Given the description of an element on the screen output the (x, y) to click on. 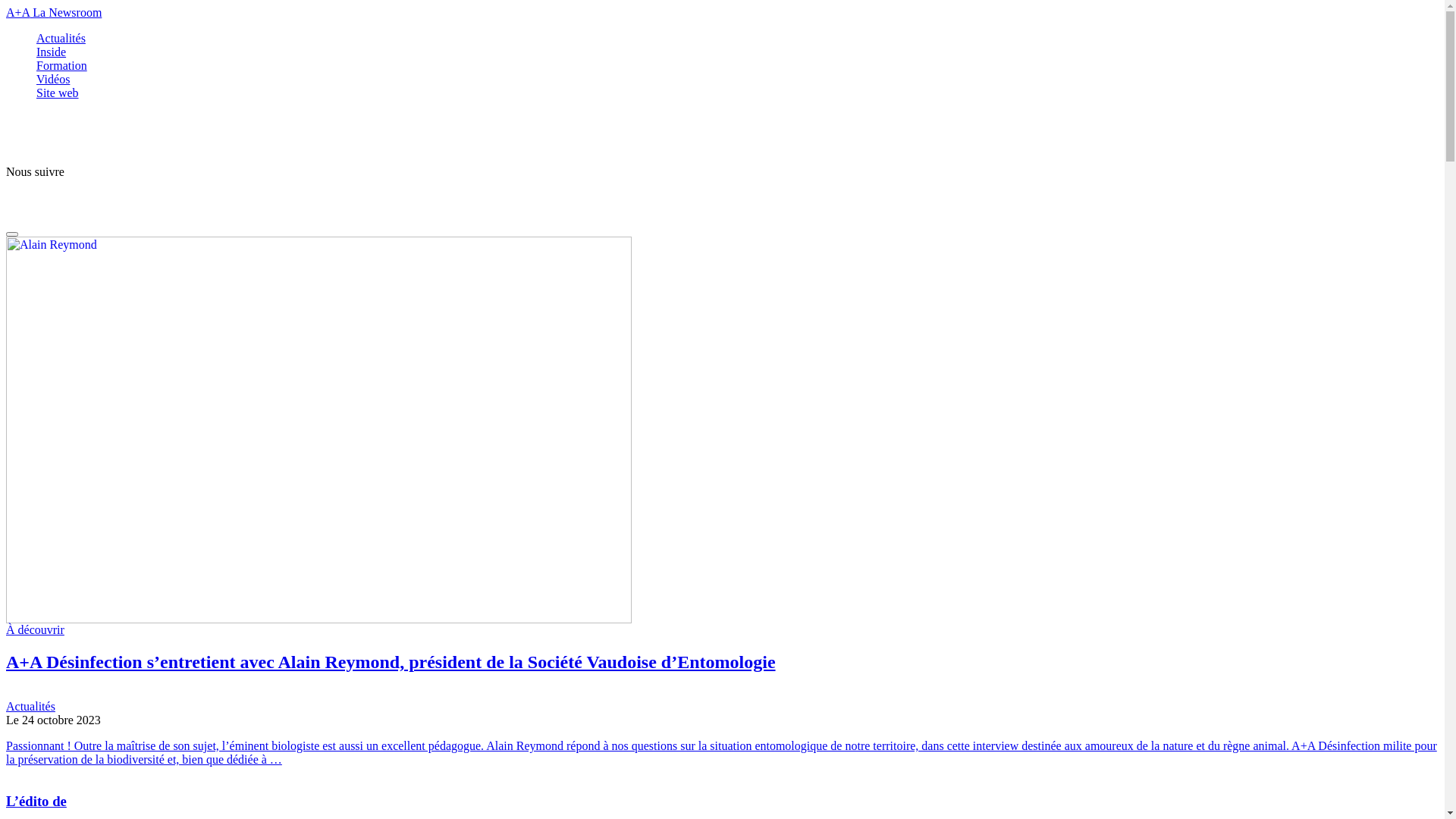
A+A La Newsroom Element type: text (722, 12)
Formation Element type: text (61, 65)
Inside Element type: text (50, 51)
Site web Element type: text (57, 92)
